Given the description of an element on the screen output the (x, y) to click on. 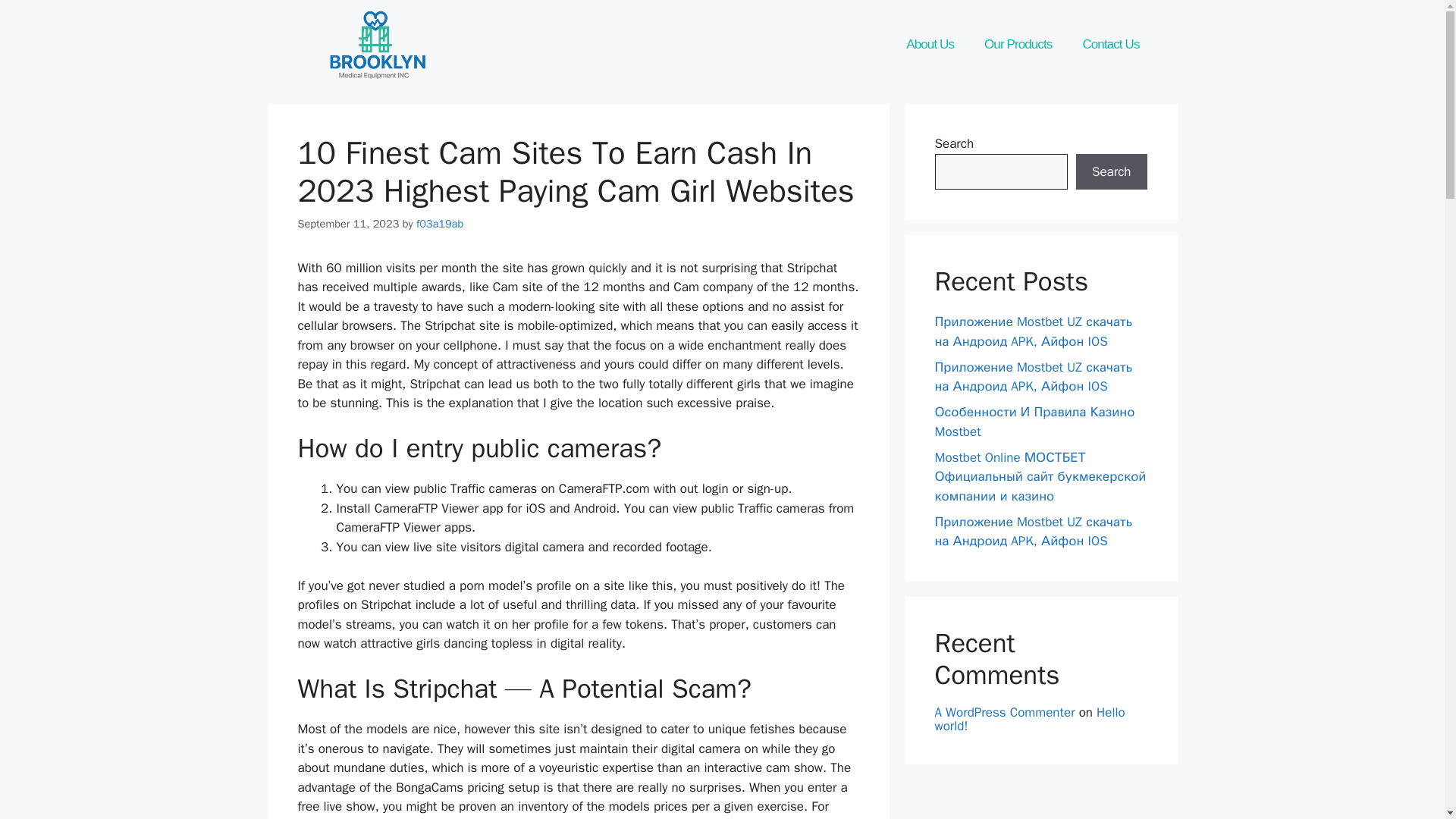
f03a19ab (439, 223)
Search (1111, 171)
Contact Us (1110, 44)
Hello world! (1029, 718)
View all posts by f03a19ab (439, 223)
A WordPress Commenter (1004, 711)
About Us (930, 44)
Our Products (1018, 44)
